Given the description of an element on the screen output the (x, y) to click on. 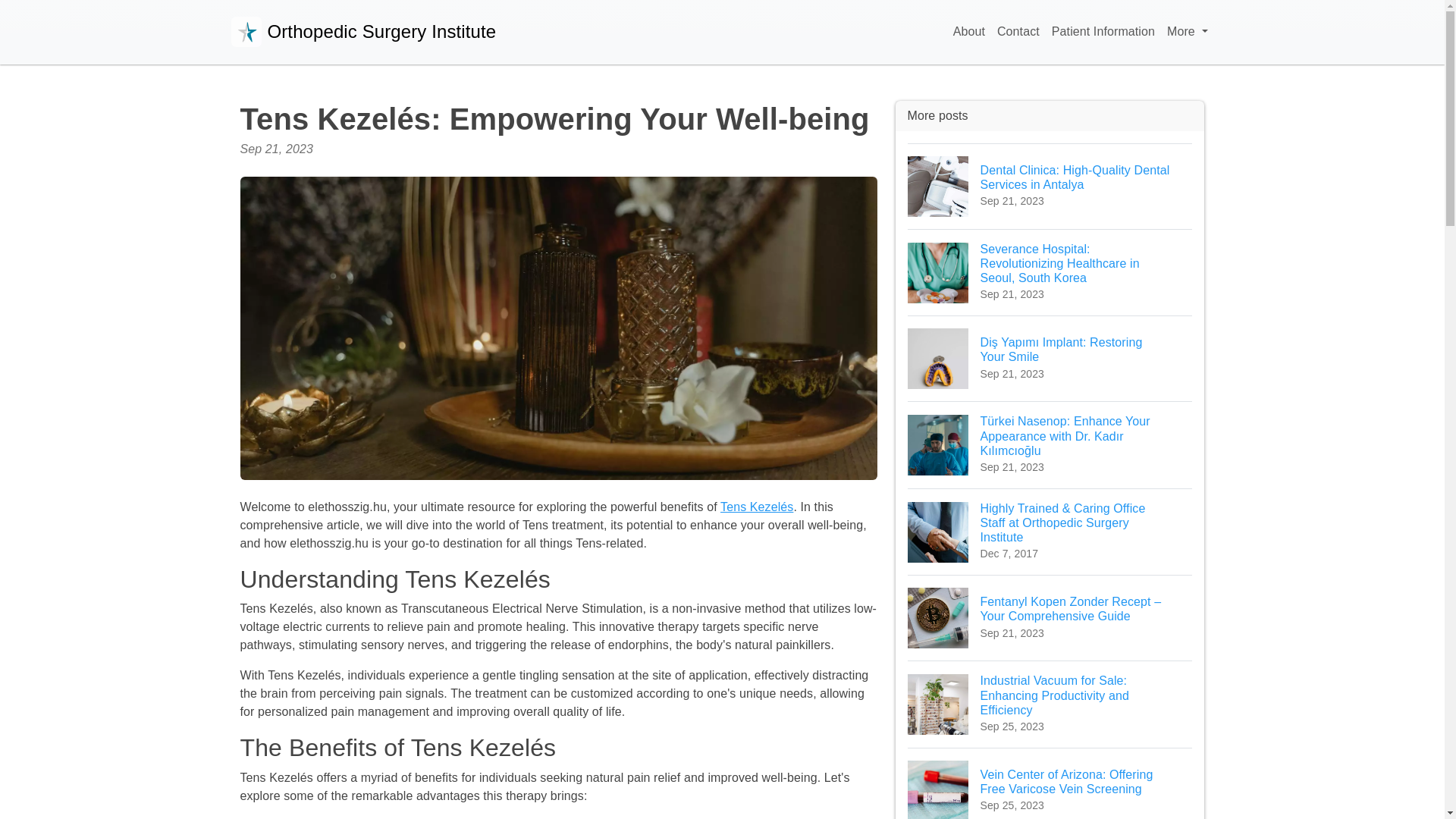
More (1186, 32)
Patient Information (1102, 32)
About (969, 32)
Contact (1018, 32)
Orthopedic Surgery Institute (363, 31)
